Given the description of an element on the screen output the (x, y) to click on. 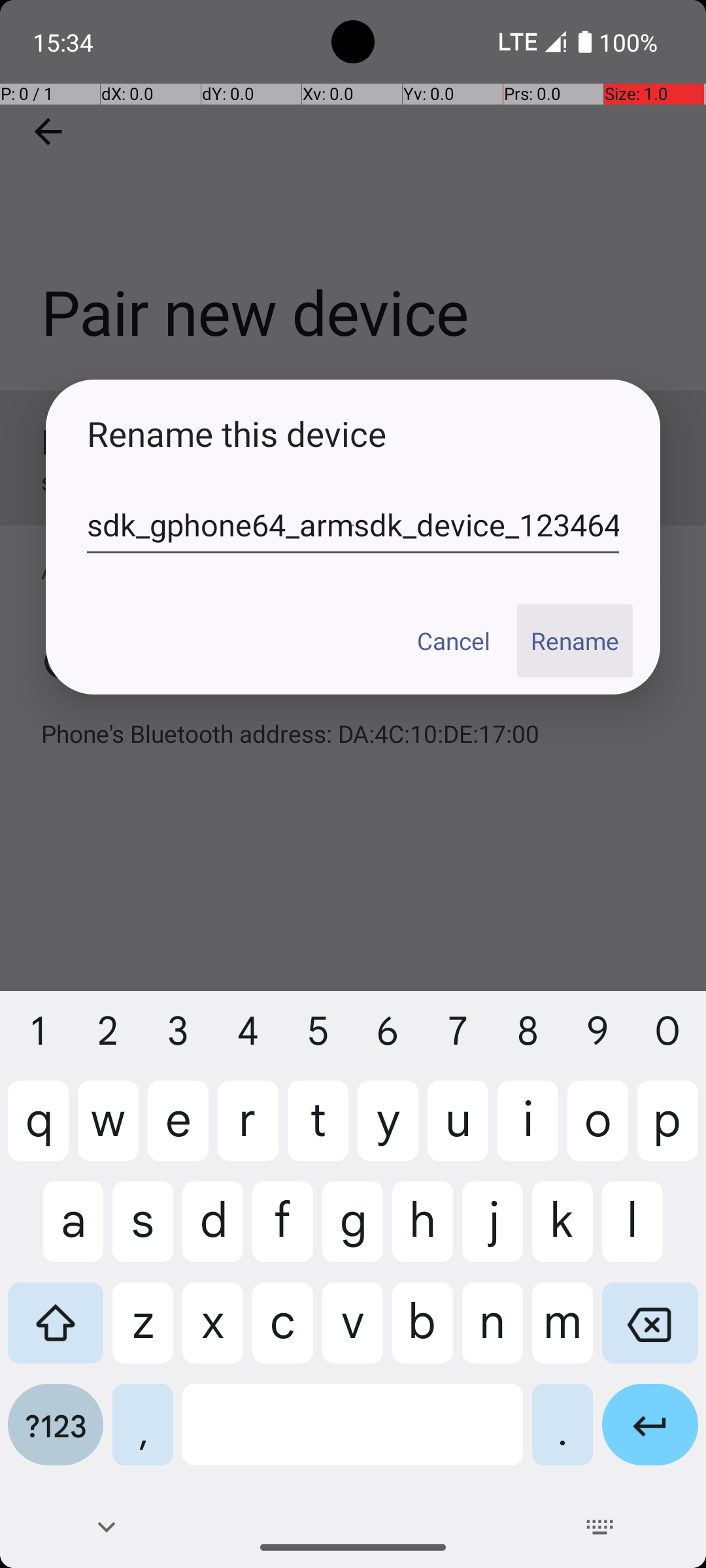
Rename this device Element type: android.widget.TextView (352, 433)
sdk_gphone64_armsdk_device_123464 Element type: android.widget.EditText (352, 525)
Rename Element type: android.widget.Button (574, 640)
